Given the description of an element on the screen output the (x, y) to click on. 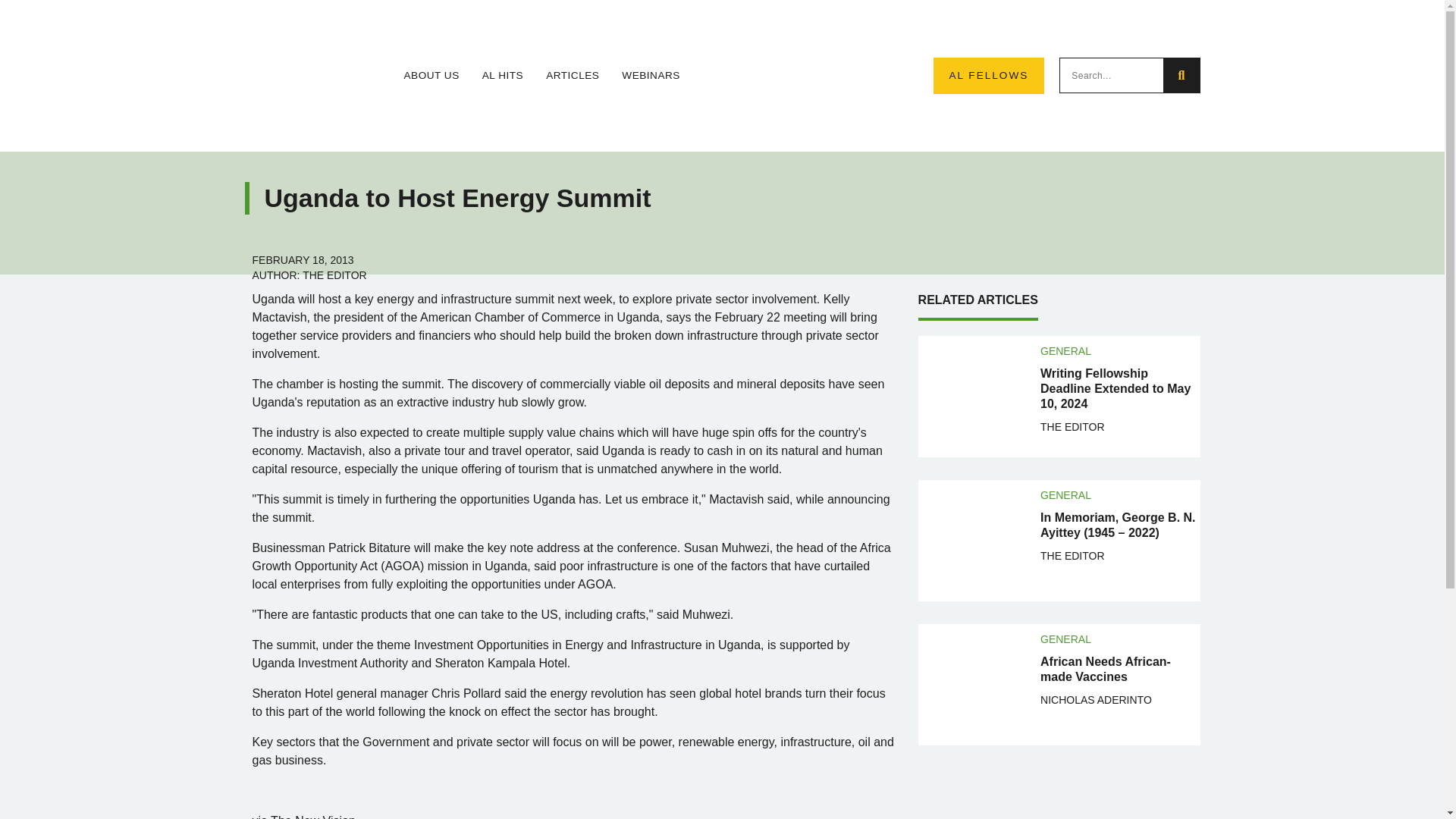
AL HITS (501, 75)
AL FELLOWS (988, 75)
WEBINARS (650, 75)
FEBRUARY 18, 2013 (302, 258)
GENERAL (1065, 349)
AUTHOR: THE EDITOR (308, 273)
ABOUT US (430, 75)
ARTICLES (572, 75)
